Given the description of an element on the screen output the (x, y) to click on. 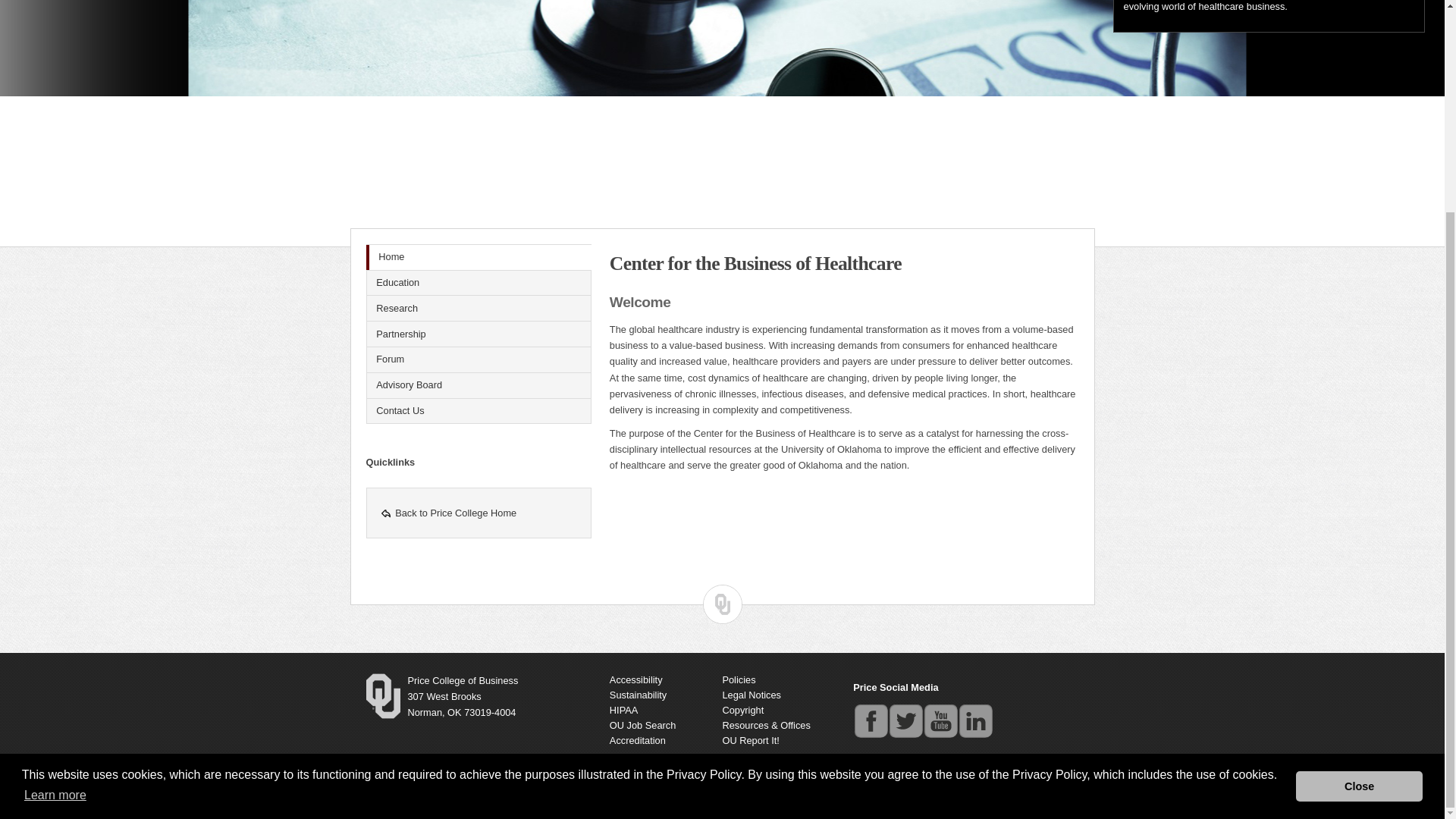
Price College of Business (462, 680)
Go to the University of Oklahoma's Twitter account (905, 719)
Go to the University of Oklahoma's Facebook account (870, 719)
Accessibility (636, 679)
Accreditation (637, 740)
Close (1358, 510)
Legal Notices (751, 695)
Back to Price College Home (480, 512)
HIPAA (623, 709)
Price College of Business (523, 790)
